Given the description of an element on the screen output the (x, y) to click on. 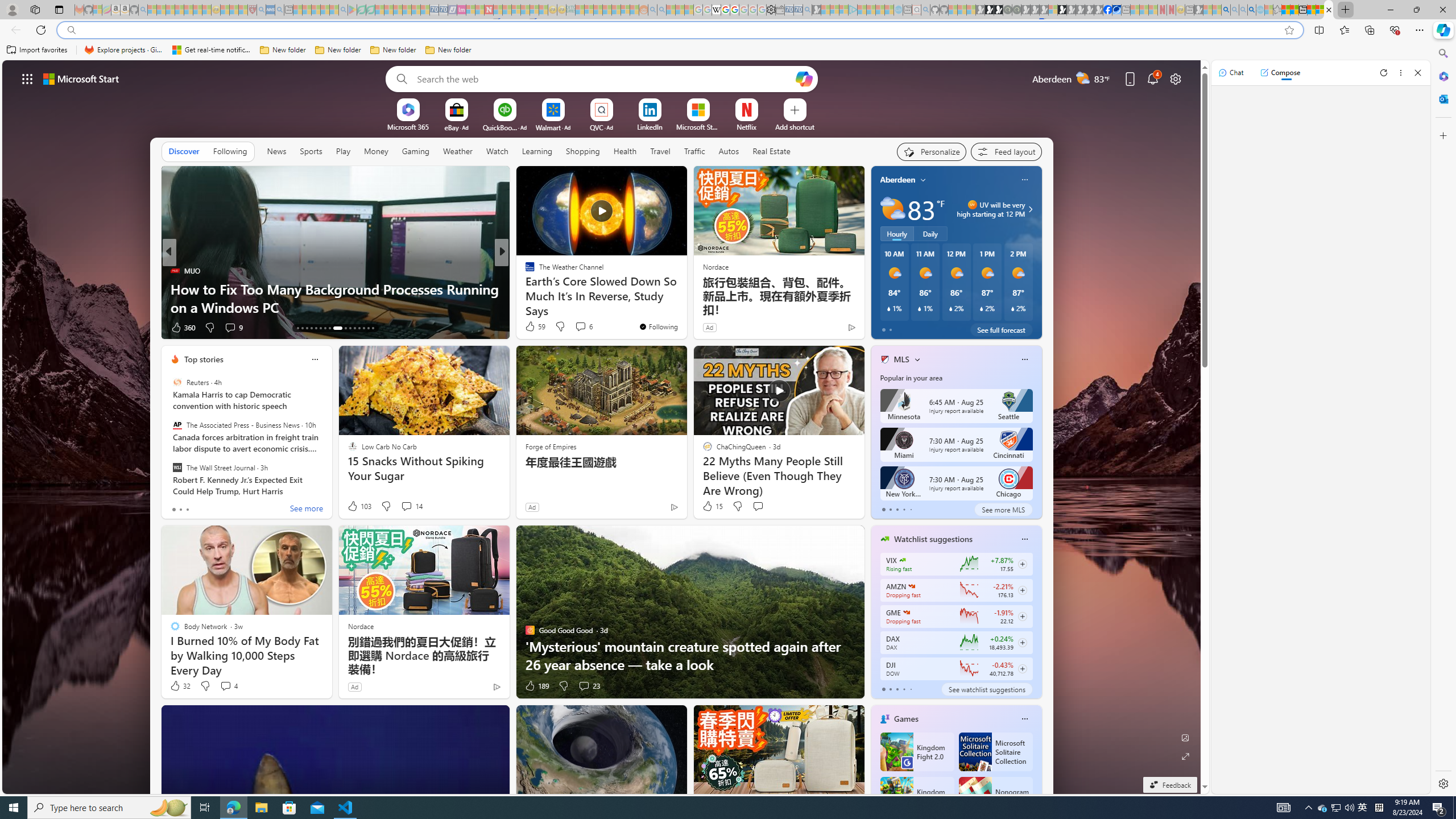
View comments 5 Comment (580, 327)
Traffic (694, 151)
Class: sd-card-game-item-img-inner (974, 796)
Top stories (203, 359)
